Given the description of an element on the screen output the (x, y) to click on. 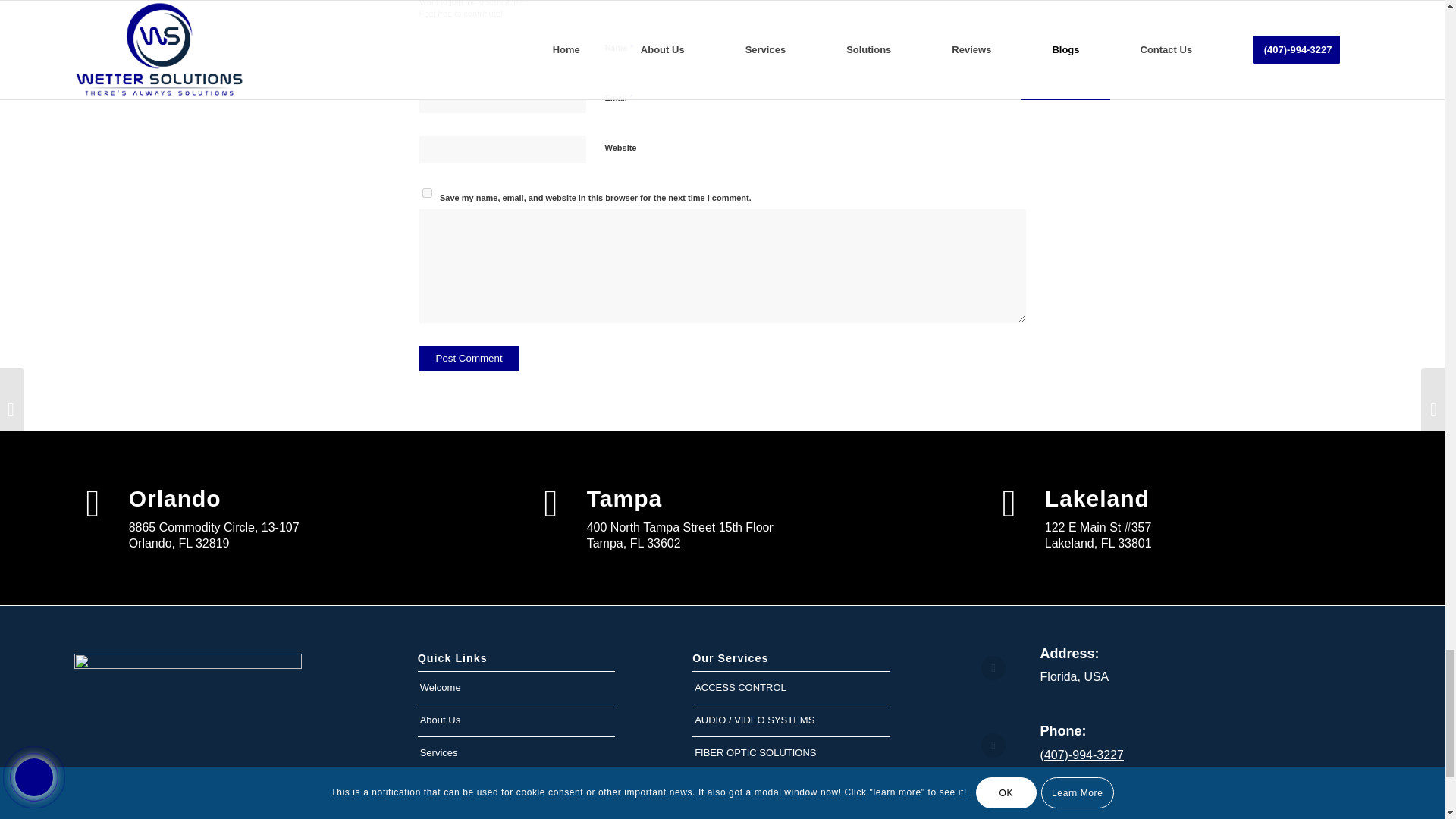
About Us (515, 720)
yes (426, 193)
Reviews (515, 785)
Services (515, 753)
Post Comment (468, 358)
Post Comment (468, 358)
Welcome (515, 687)
